Given the description of an element on the screen output the (x, y) to click on. 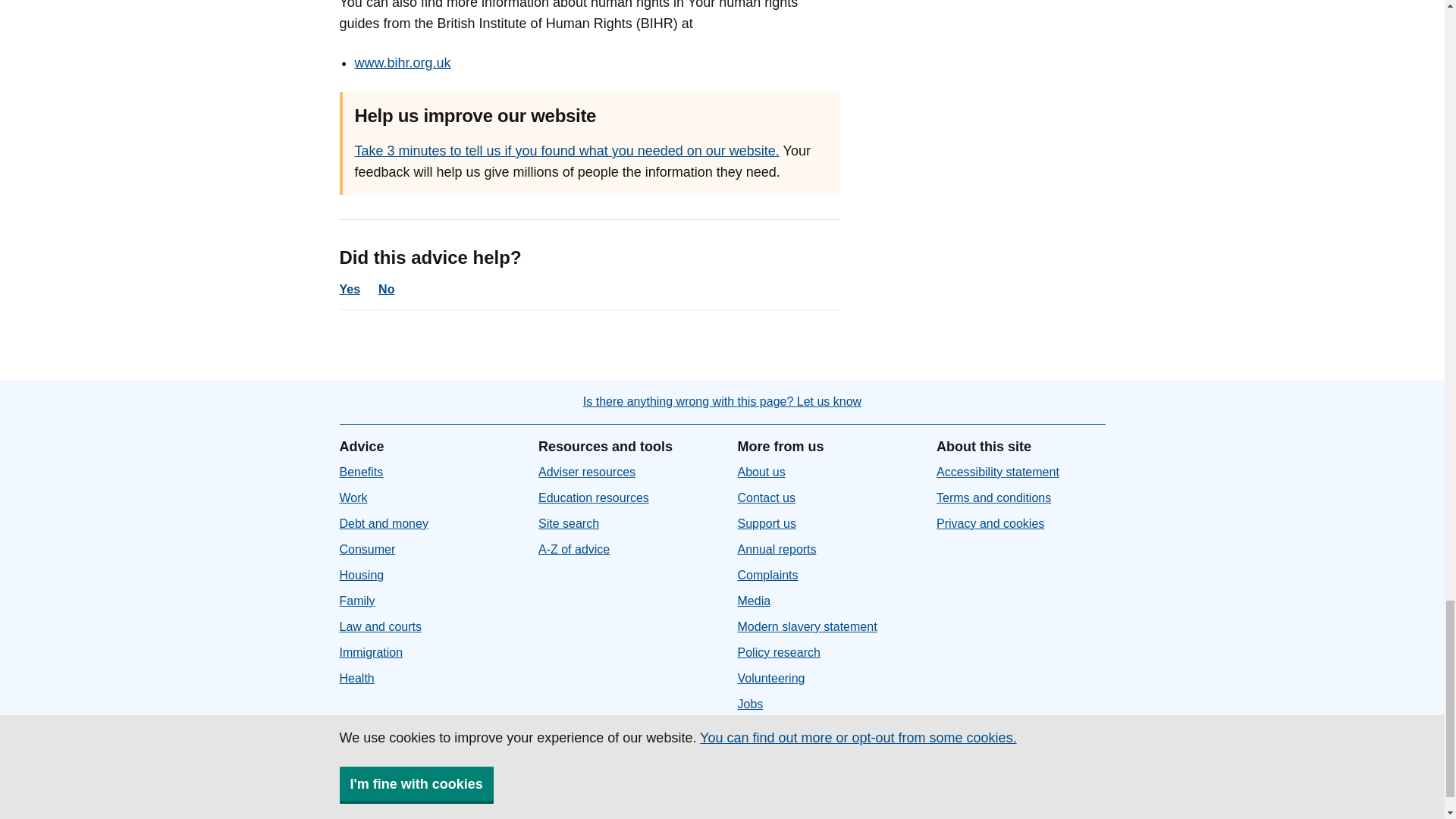
Citizens Advice homepage (376, 785)
